Given the description of an element on the screen output the (x, y) to click on. 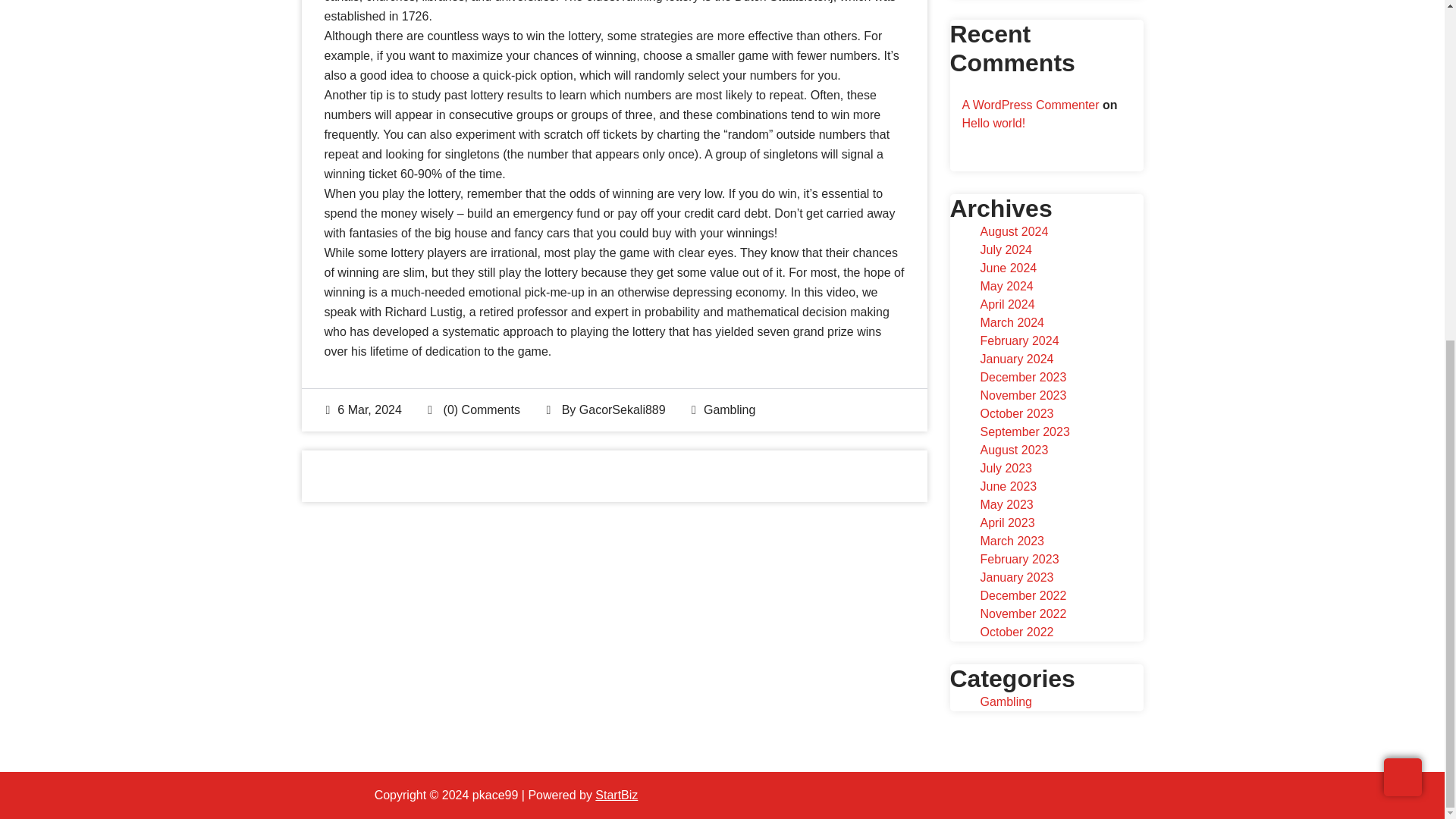
May 2024 (1005, 286)
January 2024 (1015, 358)
February 2023 (1018, 558)
December 2023 (1022, 377)
March 2023 (1011, 540)
November 2023 (1022, 395)
April 2024 (1006, 304)
June 2024 (1007, 267)
February 2024 (1018, 340)
April 2023 (1006, 522)
July 2023 (1005, 468)
GacorSekali889 (622, 409)
August 2024 (1013, 231)
March 2024 (1011, 322)
August 2023 (1013, 449)
